Given the description of an element on the screen output the (x, y) to click on. 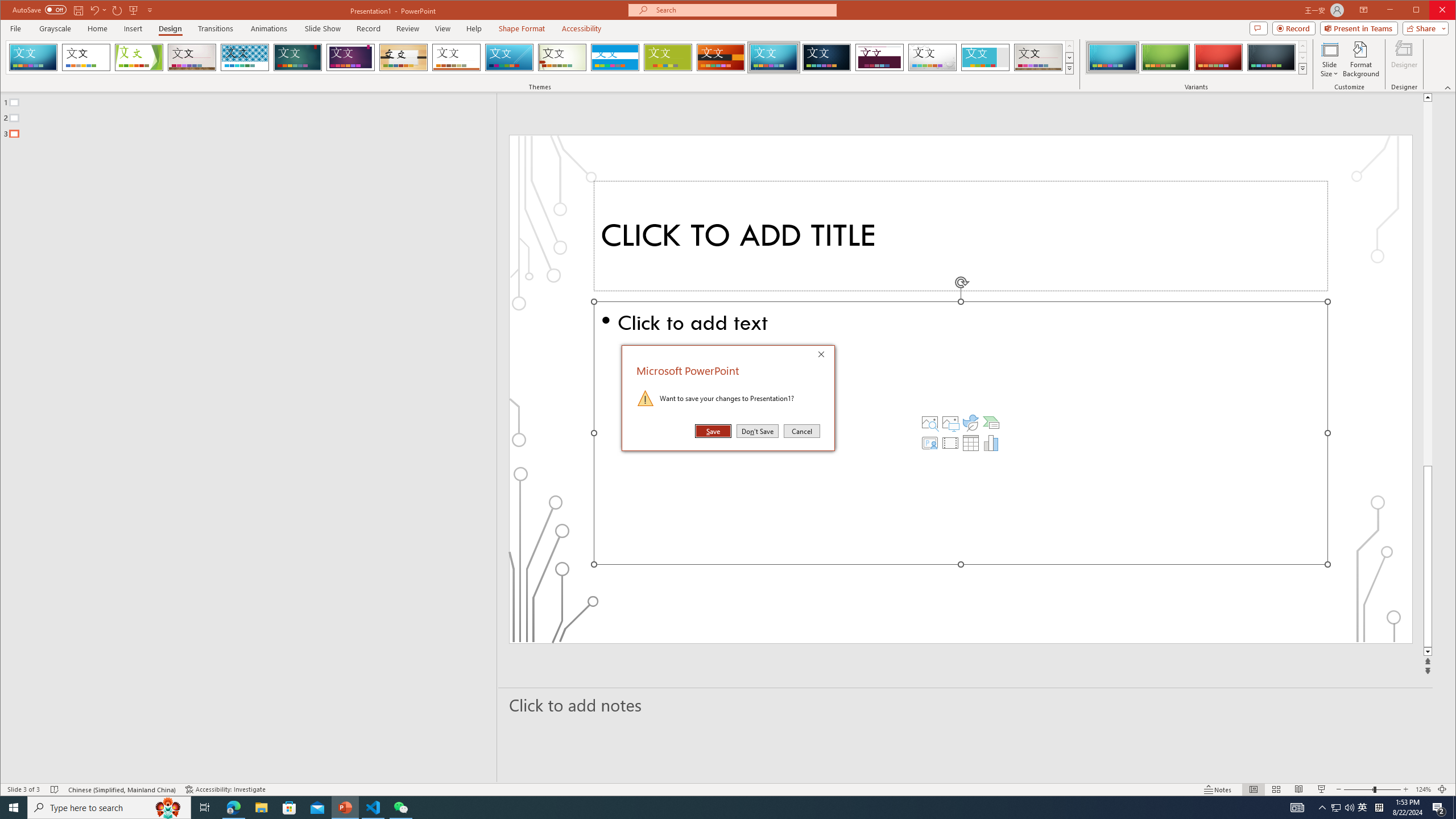
Insert a SmartArt Graphic (991, 422)
Basis (668, 57)
Visual Studio Code - 1 running window (373, 807)
AutomationID: 4105 (1297, 807)
Circuit Variant 4 (1270, 57)
Insert Table (970, 443)
File Explorer (261, 807)
Dividend (879, 57)
